Given the description of an element on the screen output the (x, y) to click on. 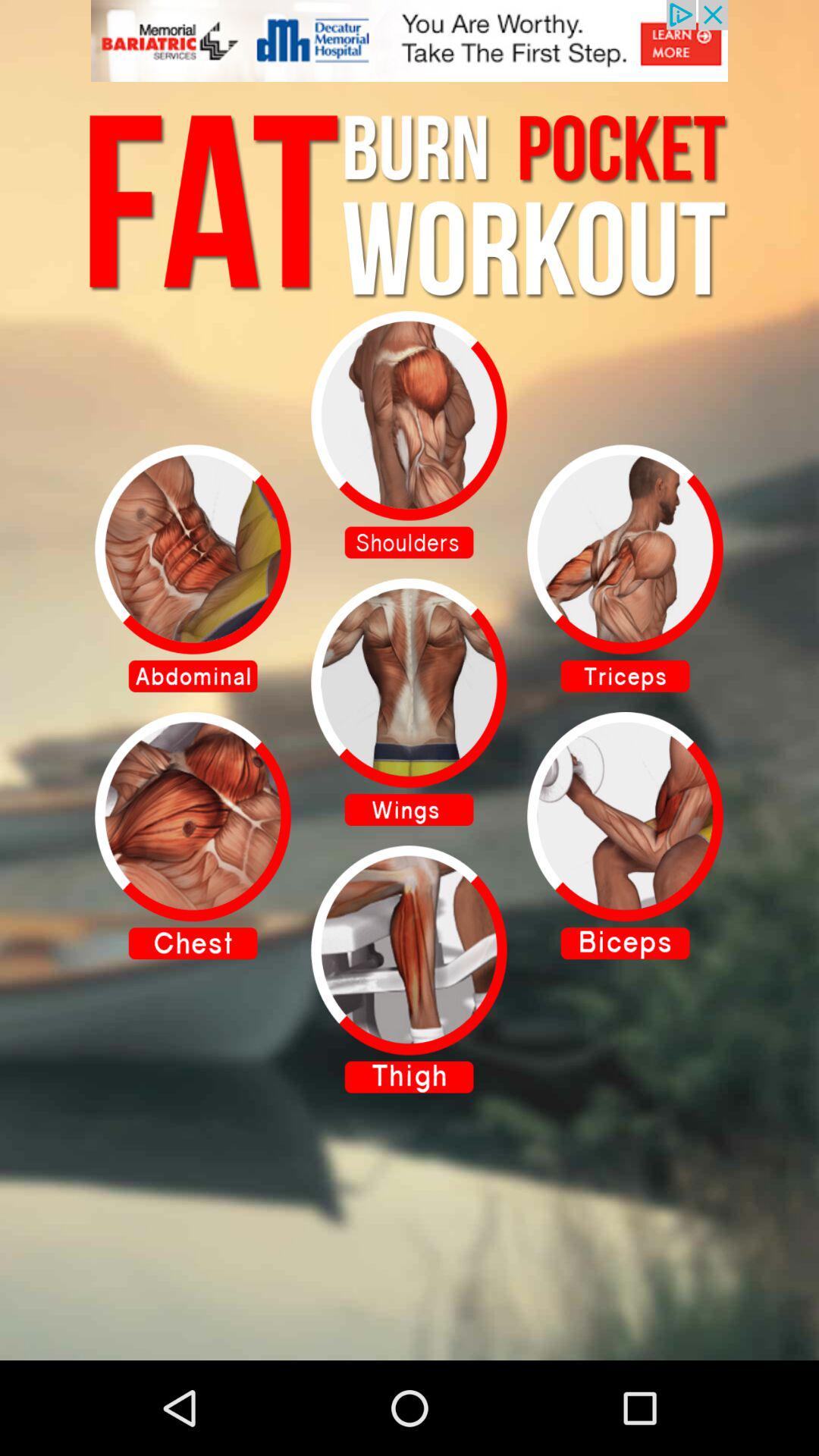
shoulder (409, 434)
